Given the description of an element on the screen output the (x, y) to click on. 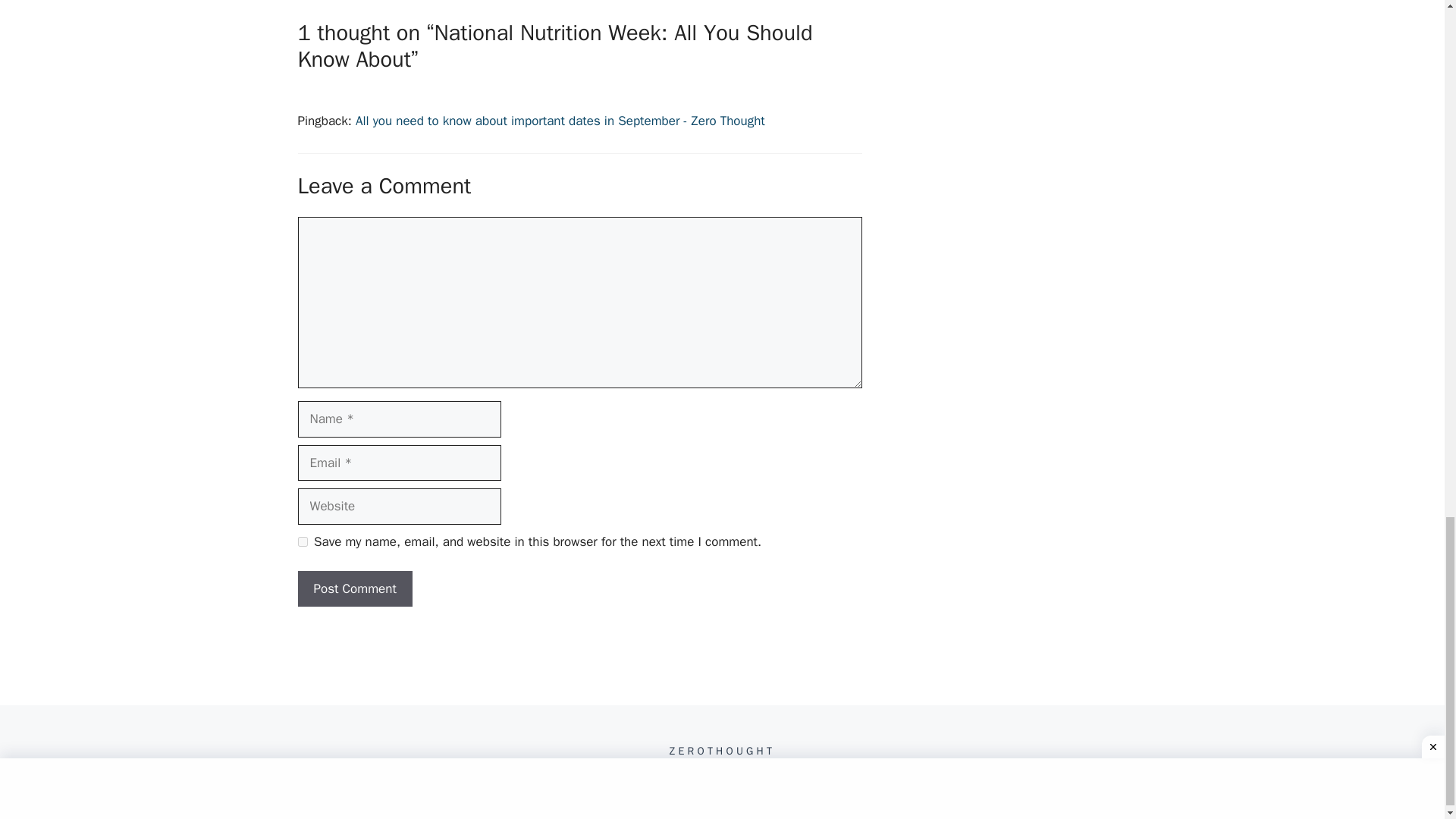
Post Comment (354, 588)
Scroll back to top (1406, 102)
yes (302, 542)
